Given the description of an element on the screen output the (x, y) to click on. 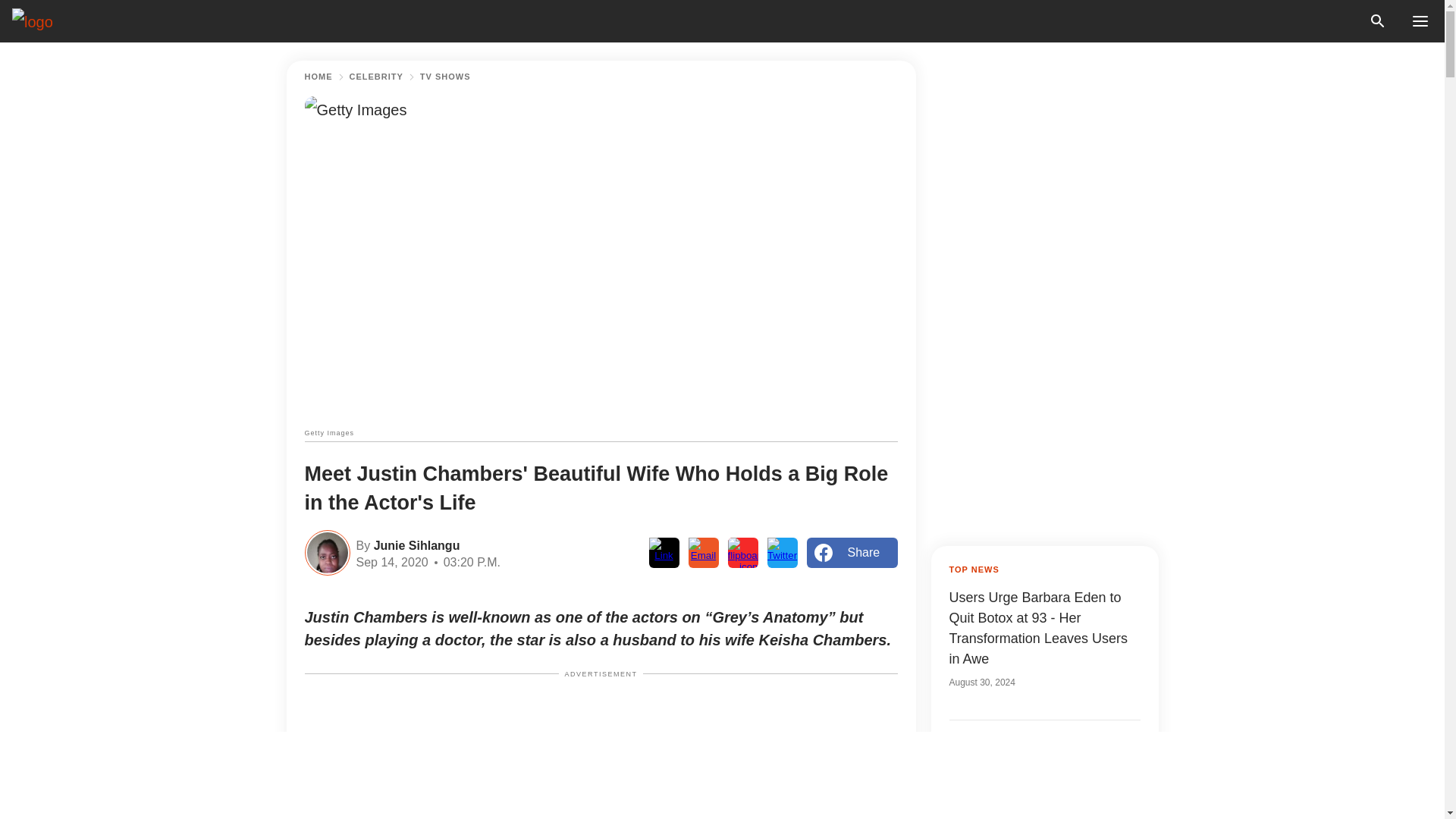
HOME (318, 76)
Junie Sihlangu (414, 544)
CELEBRITY (376, 76)
TV SHOWS (445, 76)
